Given the description of an element on the screen output the (x, y) to click on. 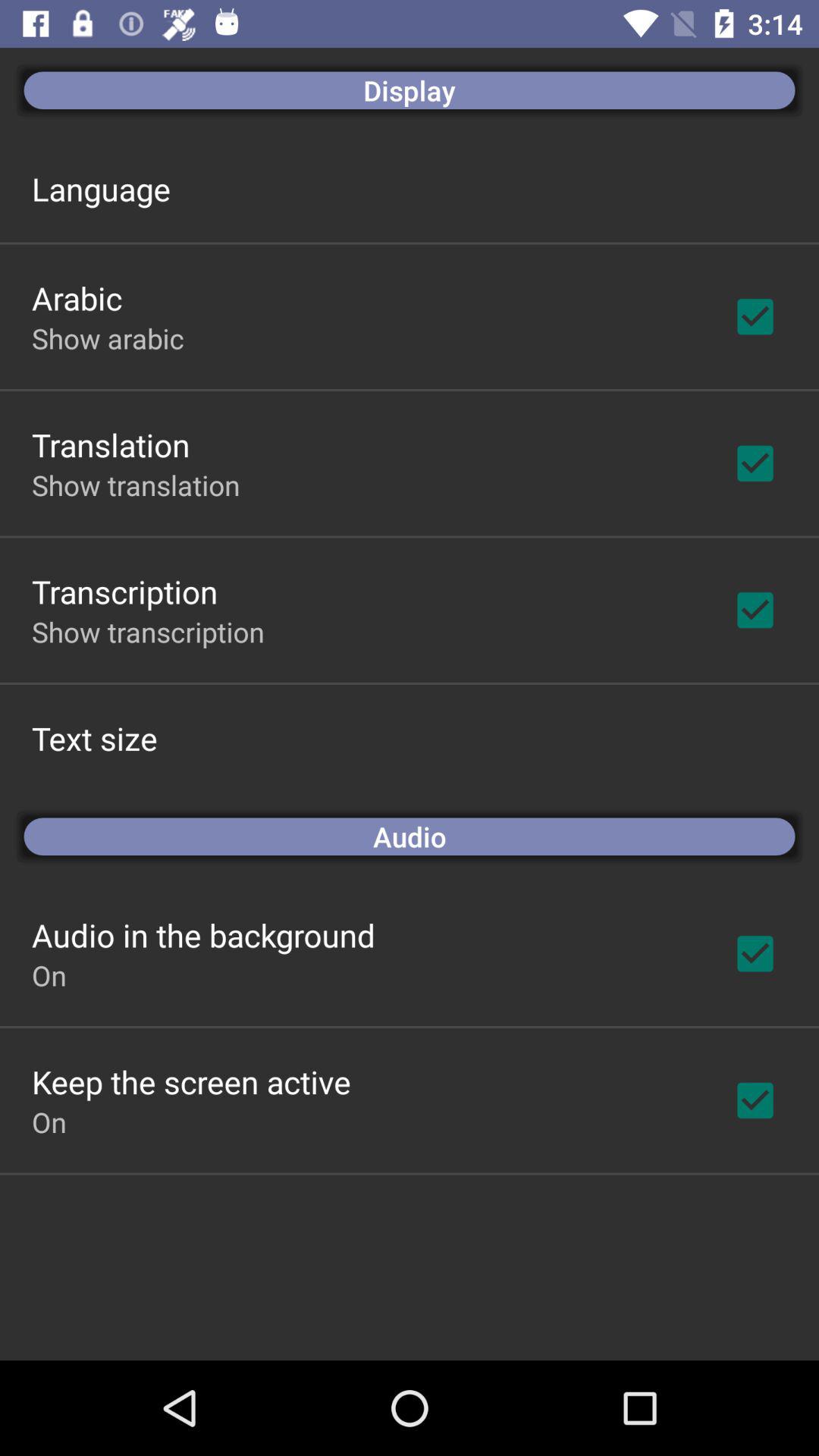
click the show translation (135, 484)
